Given the description of an element on the screen output the (x, y) to click on. 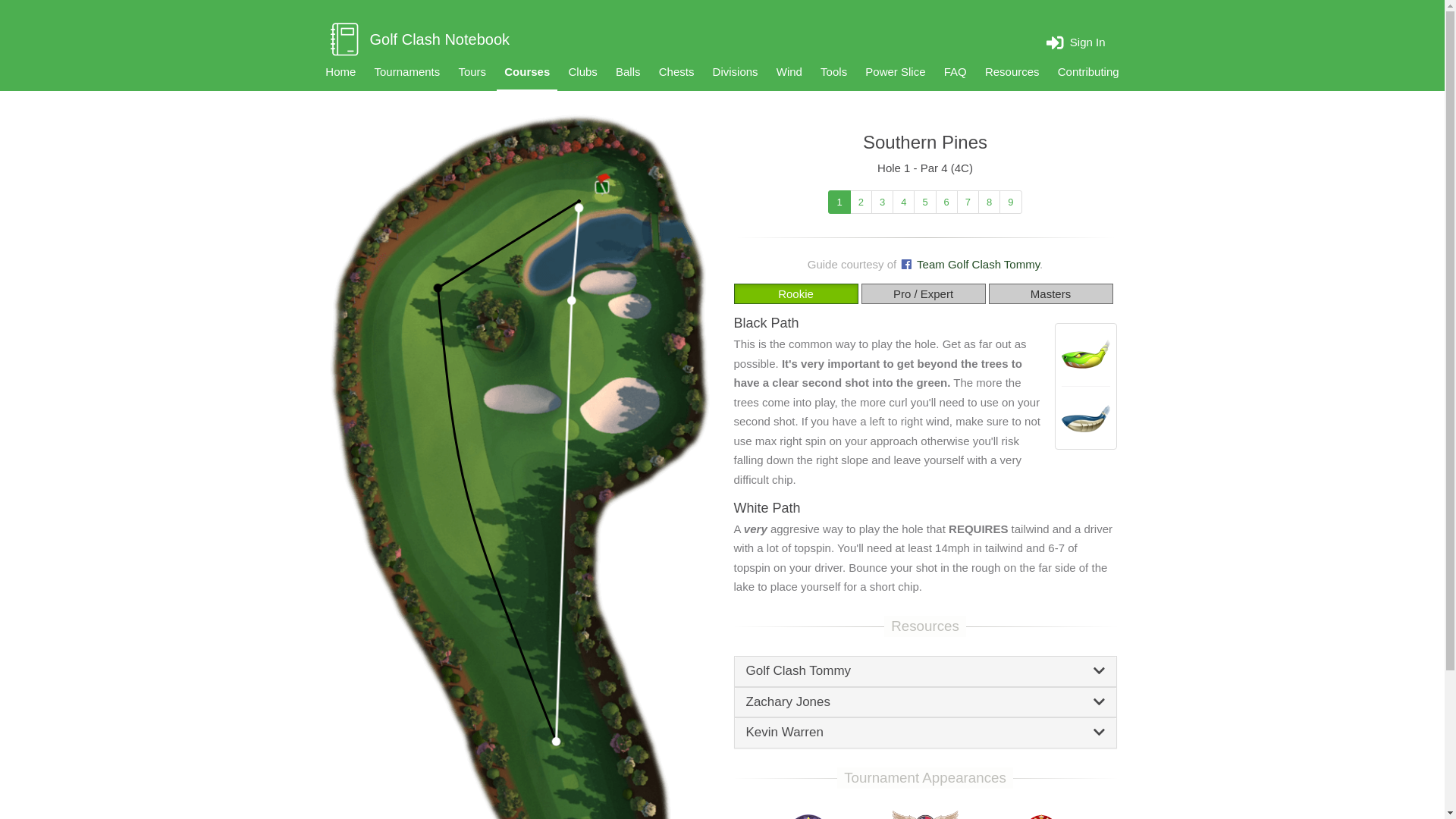
Clubs (582, 71)
Wind (788, 71)
Contributing (1087, 71)
Tournaments (407, 71)
on (782, 292)
Tours (471, 71)
2 (861, 202)
Courses (526, 72)
Chests (675, 71)
Golf Clash Notebook (518, 39)
Tools (833, 71)
on (897, 292)
8 (989, 202)
Sign In (1075, 41)
FAQ (955, 71)
